Given the description of an element on the screen output the (x, y) to click on. 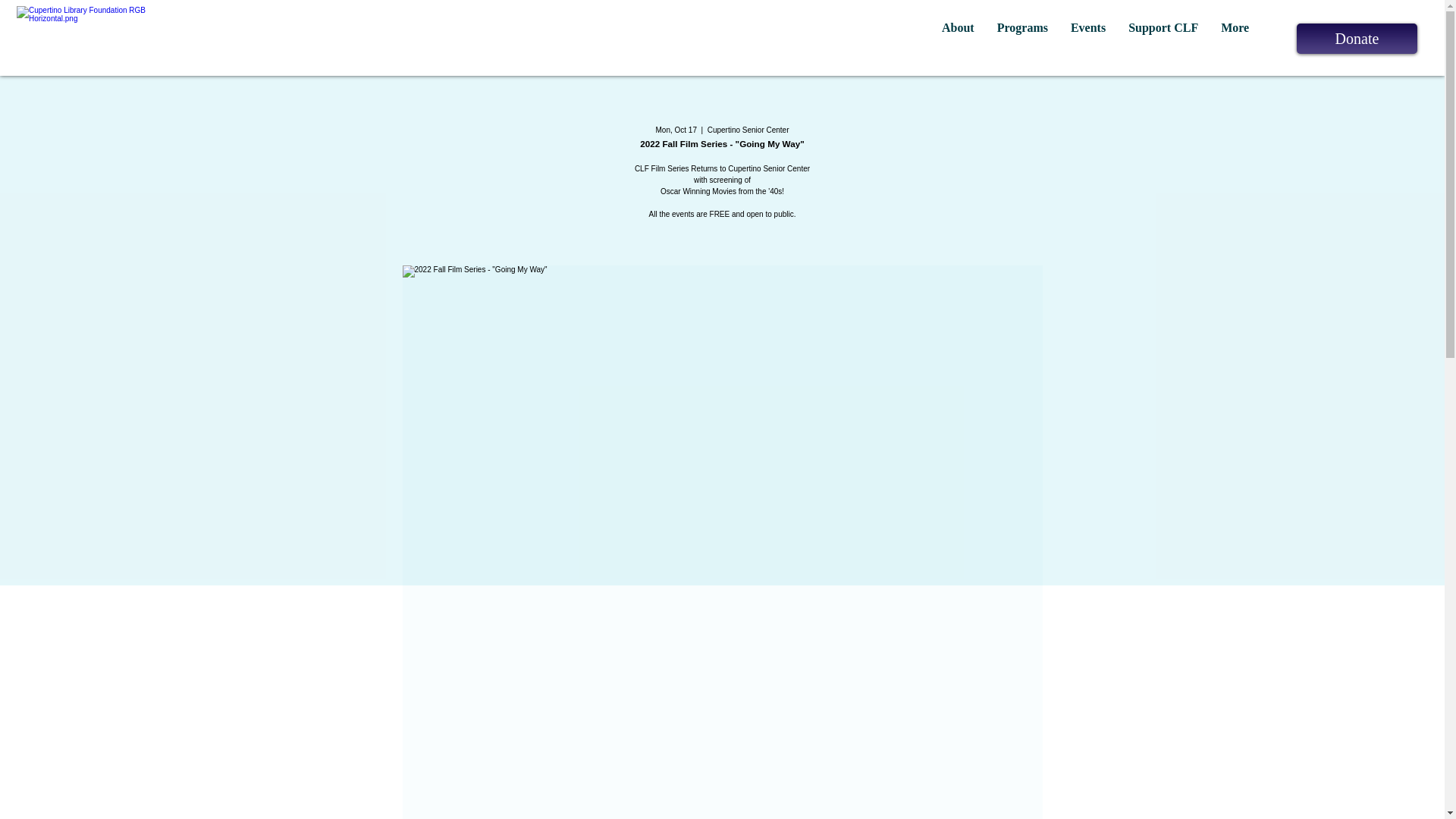
Donate (1356, 38)
Events (1087, 38)
Programs (1022, 38)
